Given the description of an element on the screen output the (x, y) to click on. 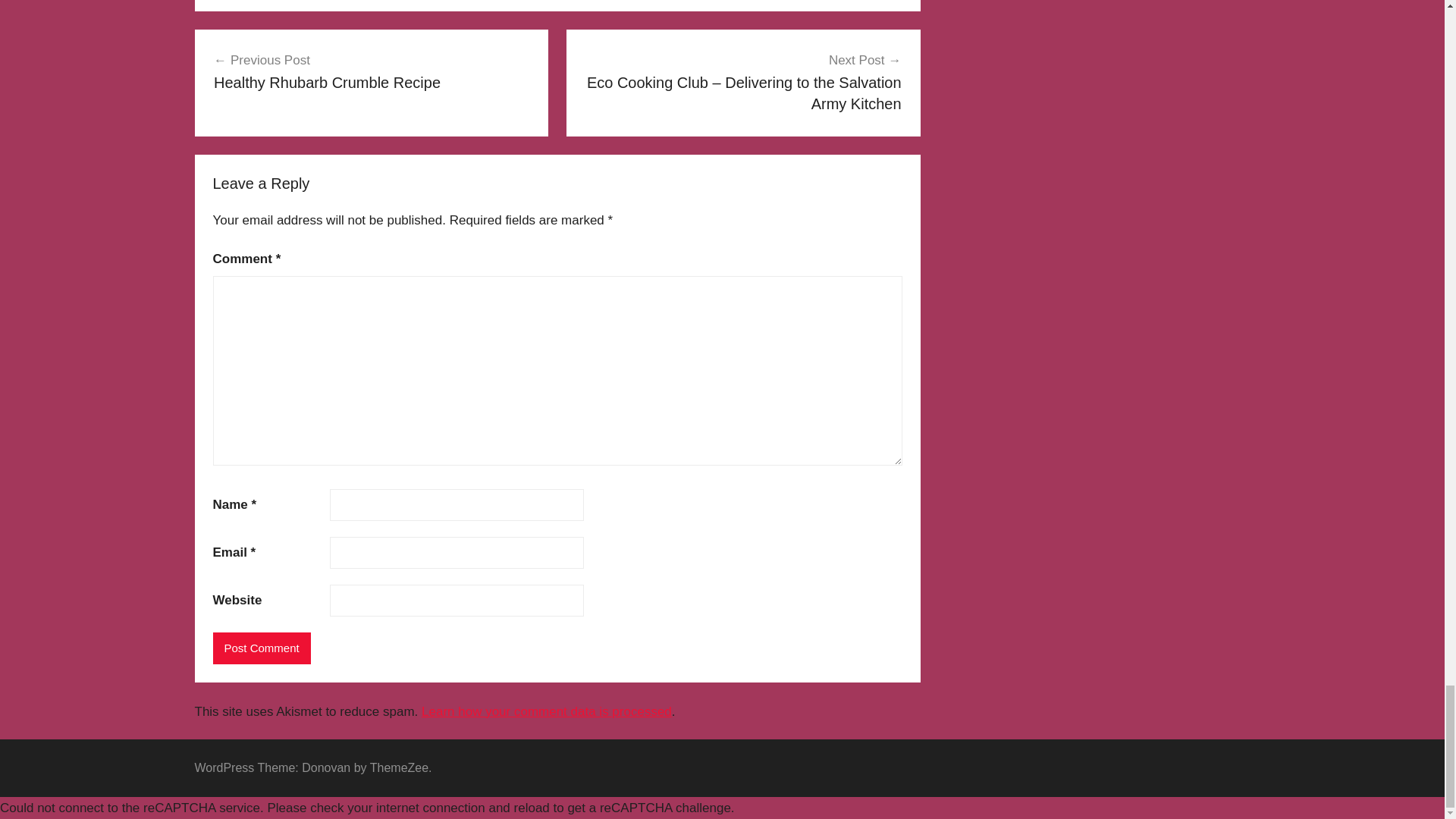
Post Comment (261, 647)
